Given the description of an element on the screen output the (x, y) to click on. 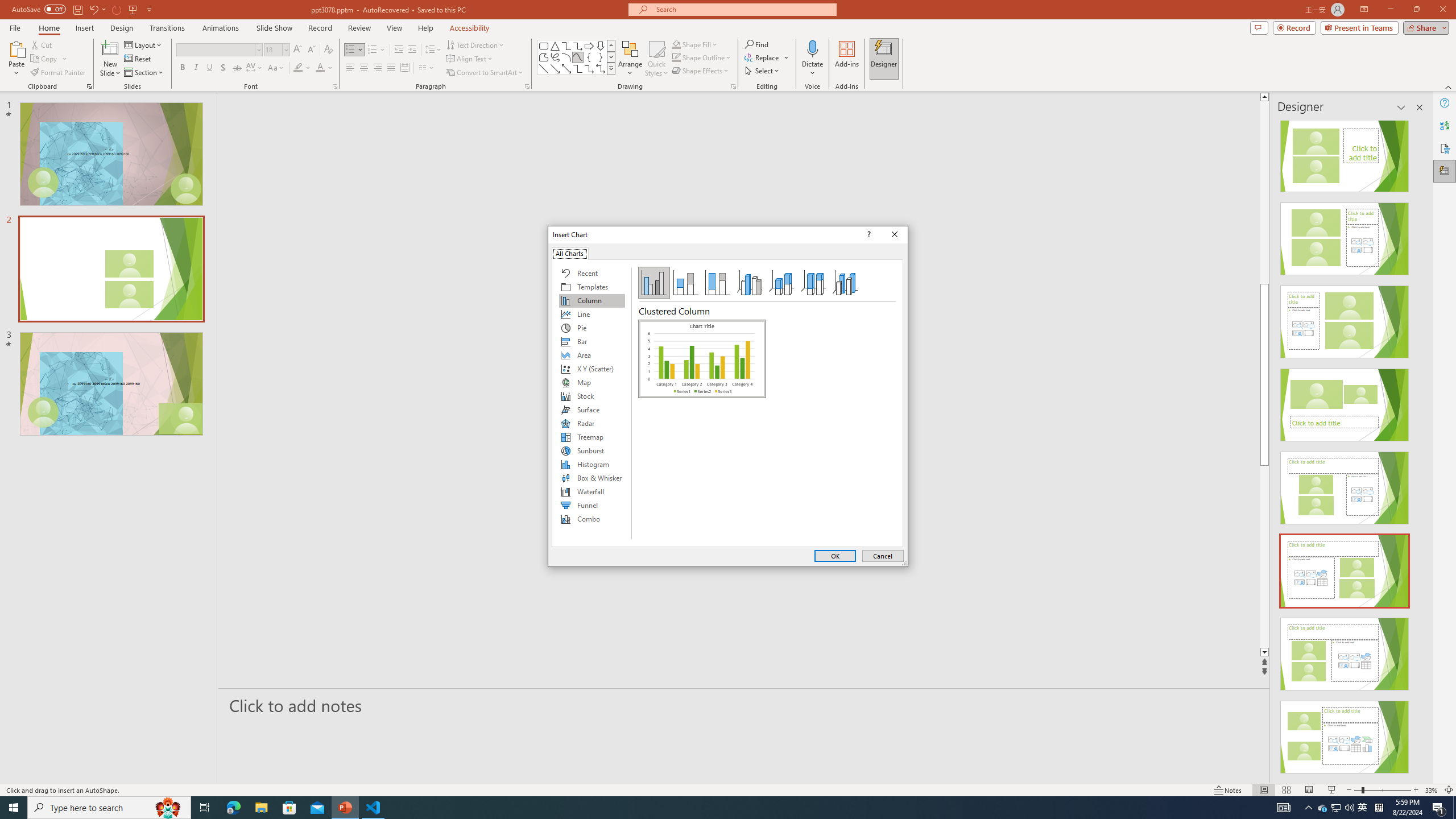
All Charts (569, 253)
Stacked Column (685, 282)
